Given the description of an element on the screen output the (x, y) to click on. 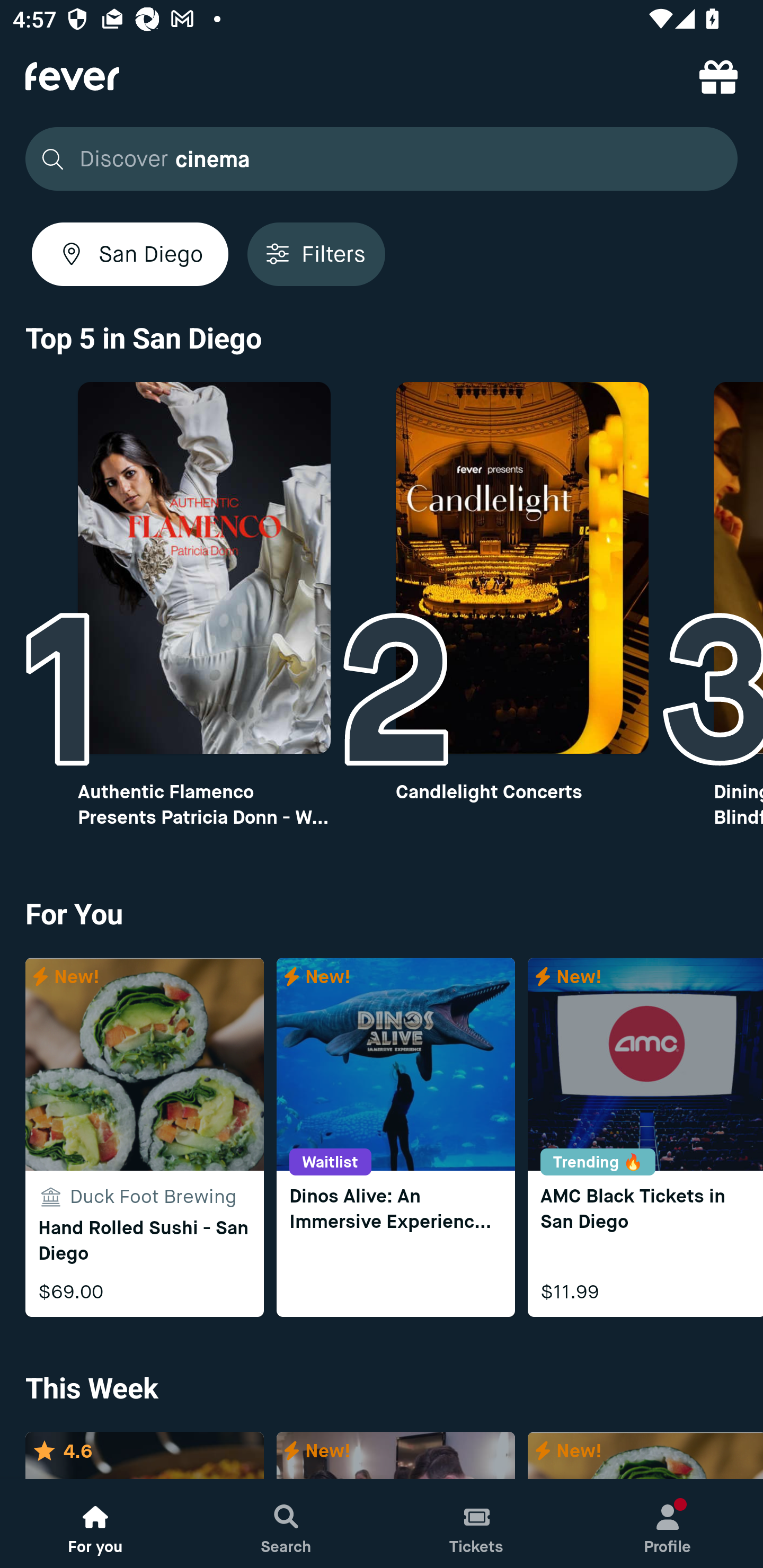
referral (718, 75)
Discover restaurants cinema (381, 158)
Discover restaurants cinema (376, 158)
San Diego (130, 253)
Filters (316, 253)
Top10 image (203, 568)
Top10 image (521, 568)
Search (285, 1523)
Tickets (476, 1523)
Profile, New notification Profile (667, 1523)
